Given the description of an element on the screen output the (x, y) to click on. 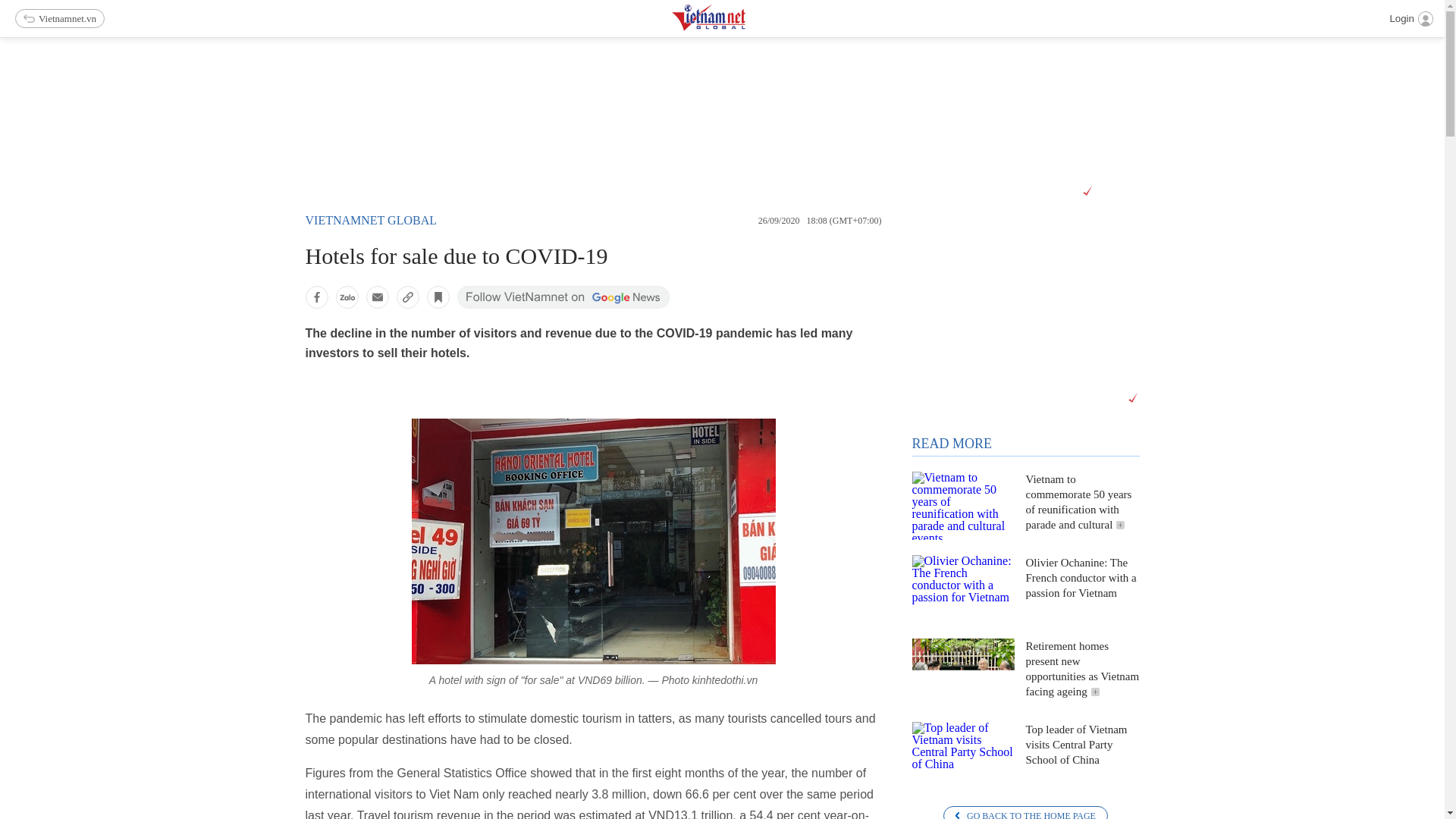
Copy link (407, 296)
Vietnamnet global (369, 219)
VIETNAMNET GLOBAL (369, 219)
Vietnamnet.vn (59, 18)
Share the post on zalo (346, 296)
Vietnamnet Global (746, 26)
Save post (437, 296)
Share the post on facebook (315, 296)
Advertisement (721, 121)
Advertisement (1024, 309)
